Given the description of an element on the screen output the (x, y) to click on. 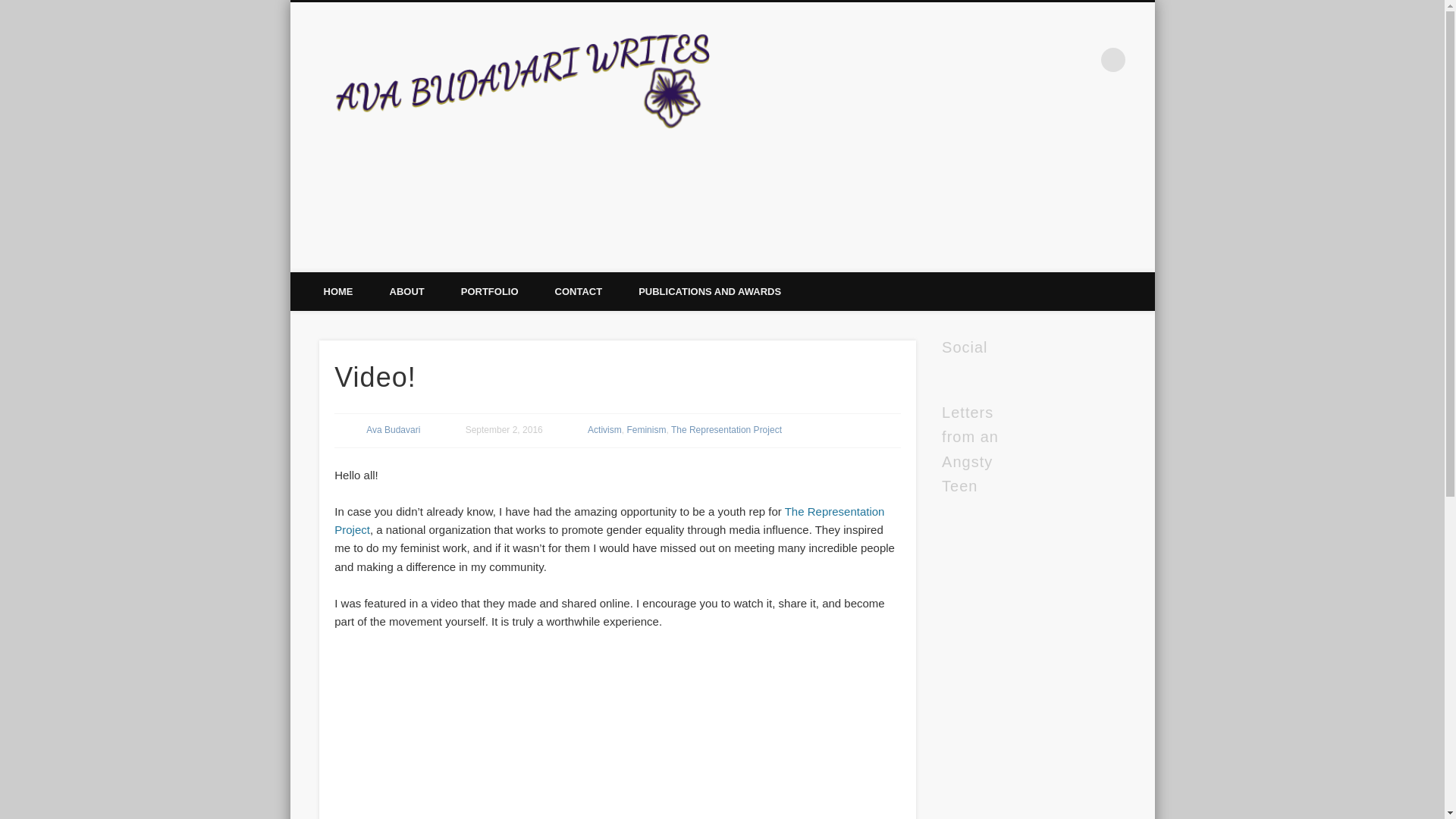
The Representation Project (726, 429)
PUBLICATIONS AND AWARDS (709, 291)
Search (11, 7)
PORTFOLIO (489, 291)
ABOUT (406, 291)
The Representation Project (608, 520)
CONTACT (579, 291)
HOME (337, 291)
Feminism (645, 429)
Activism (604, 429)
